Given the description of an element on the screen output the (x, y) to click on. 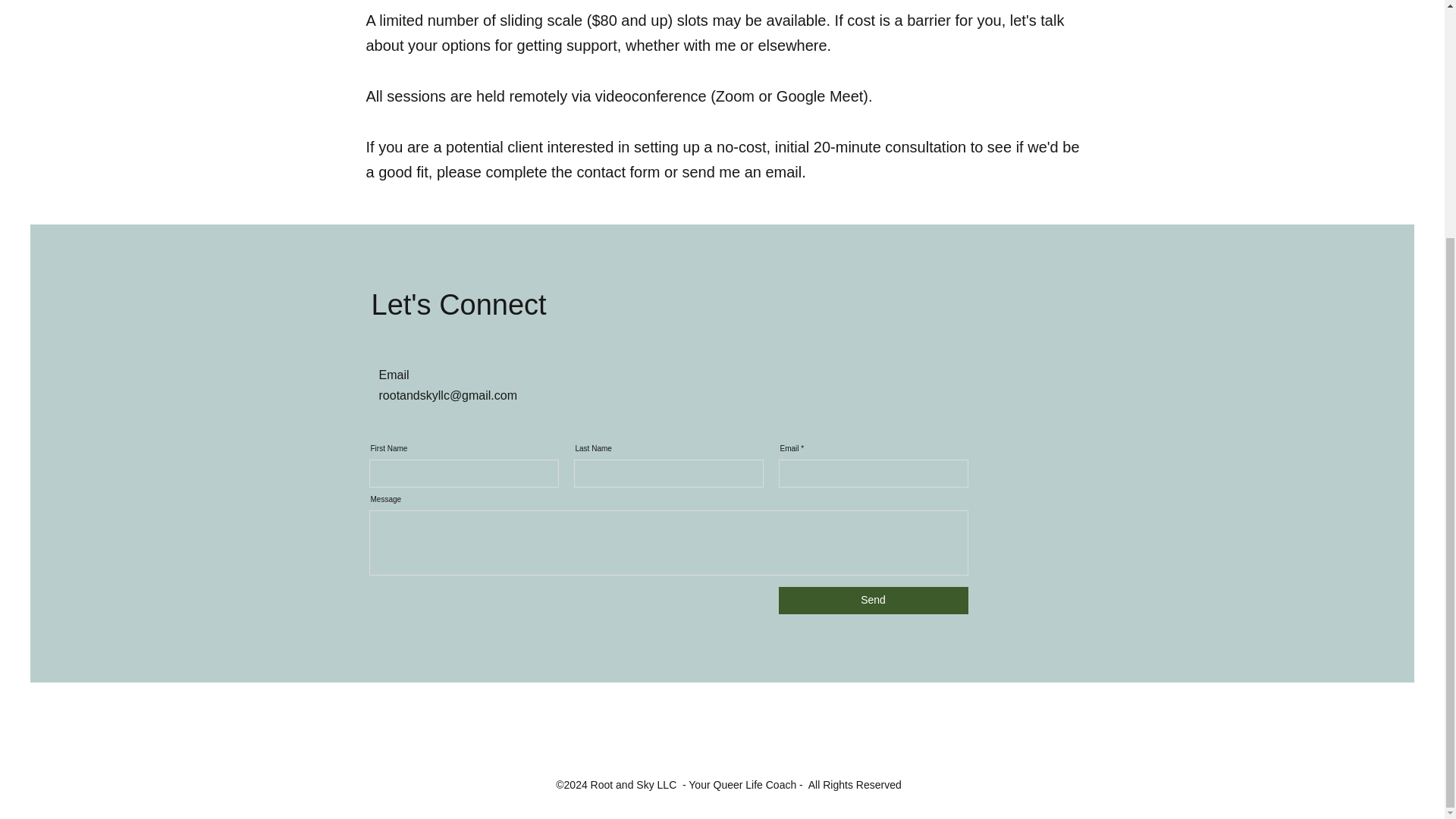
Send (872, 600)
